Given the description of an element on the screen output the (x, y) to click on. 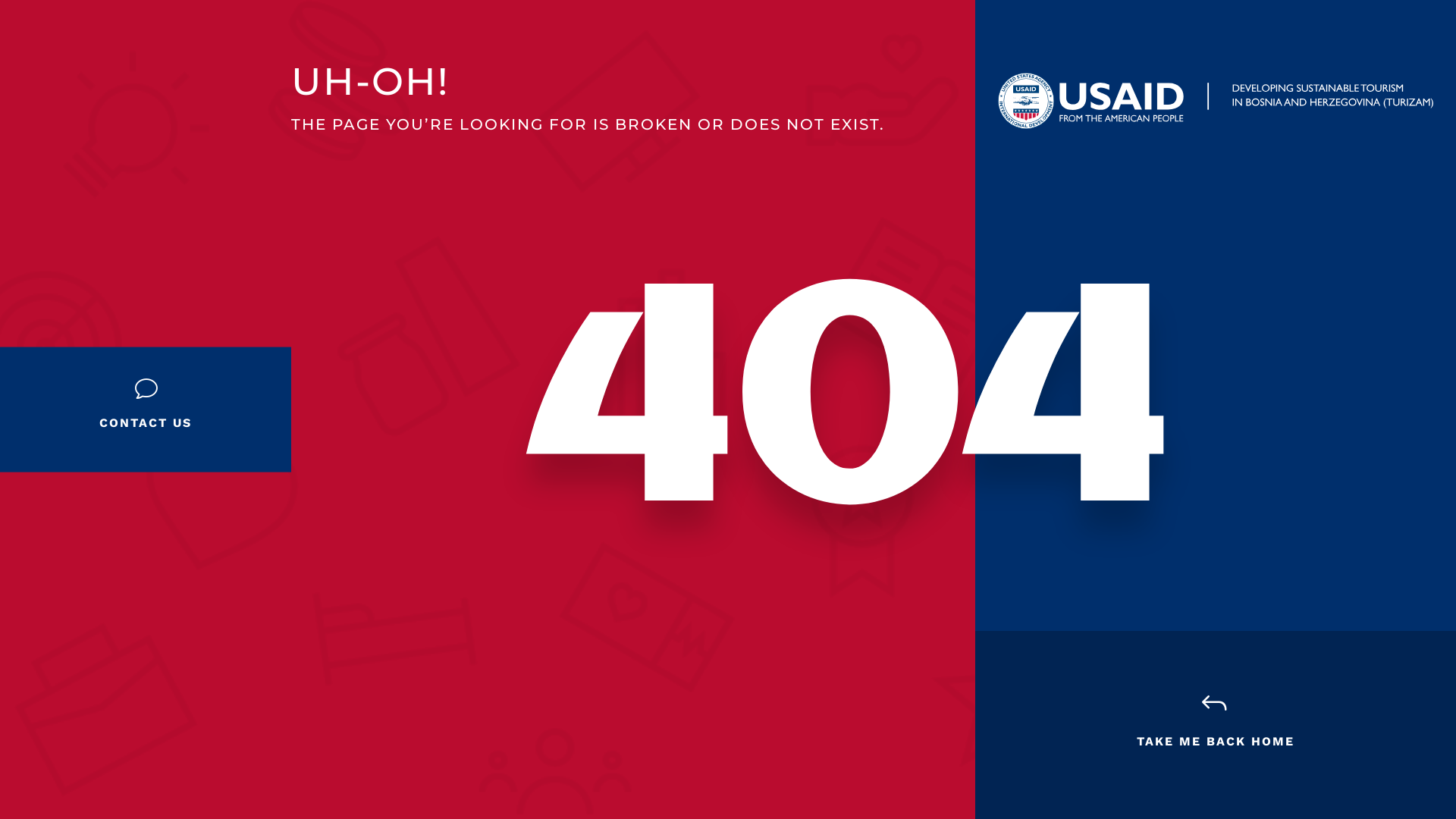
CONTACT US Element type: text (145, 422)
v Element type: text (144, 388)
